Given the description of an element on the screen output the (x, y) to click on. 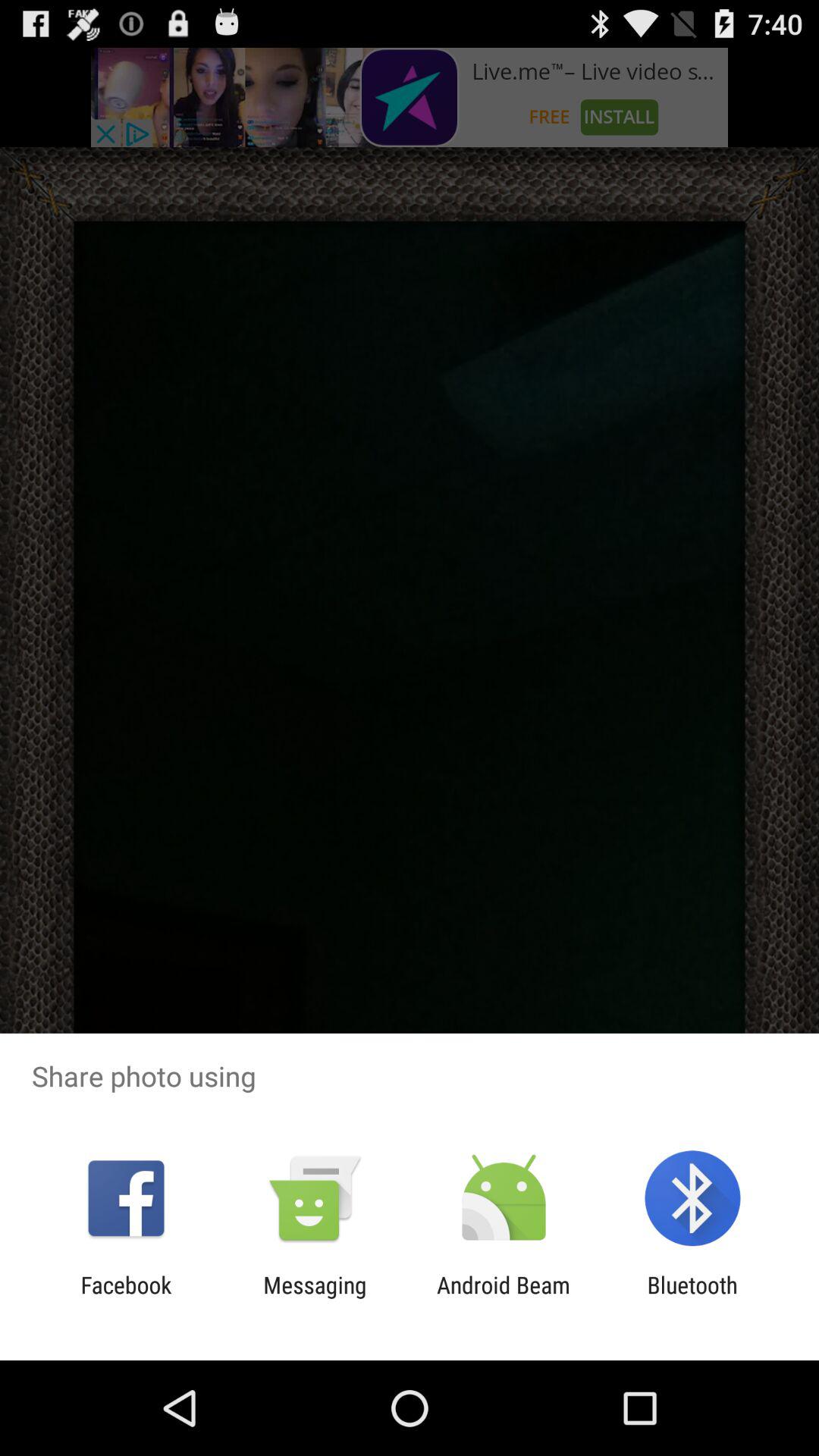
choose icon next to android beam item (692, 1298)
